Given the description of an element on the screen output the (x, y) to click on. 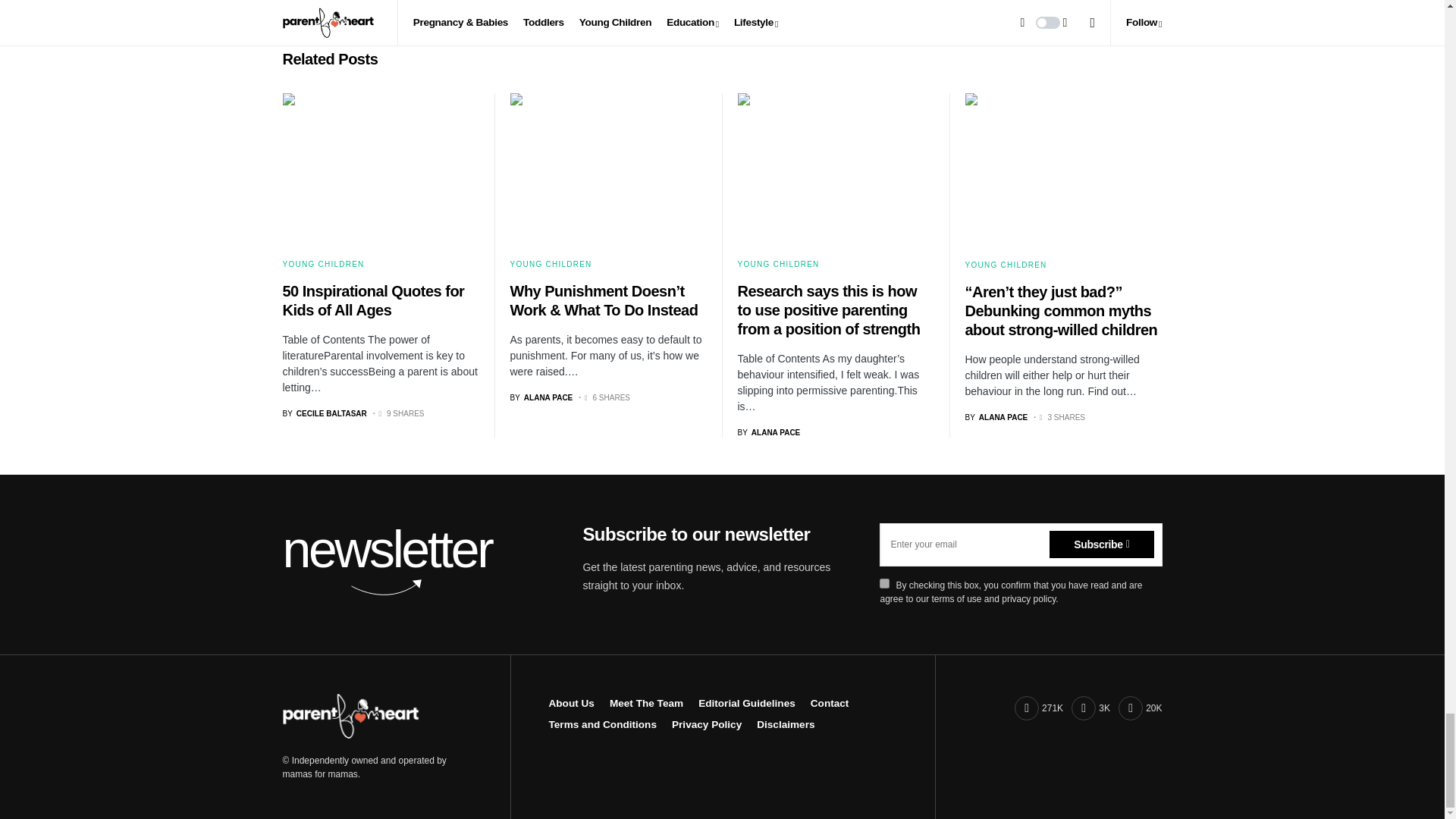
on (884, 583)
View all posts by Alana Pace (540, 397)
View all posts by Cecile Baltasar (324, 413)
View all posts by Alana Pace (995, 416)
View all posts by Alana Pace (767, 432)
